Given the description of an element on the screen output the (x, y) to click on. 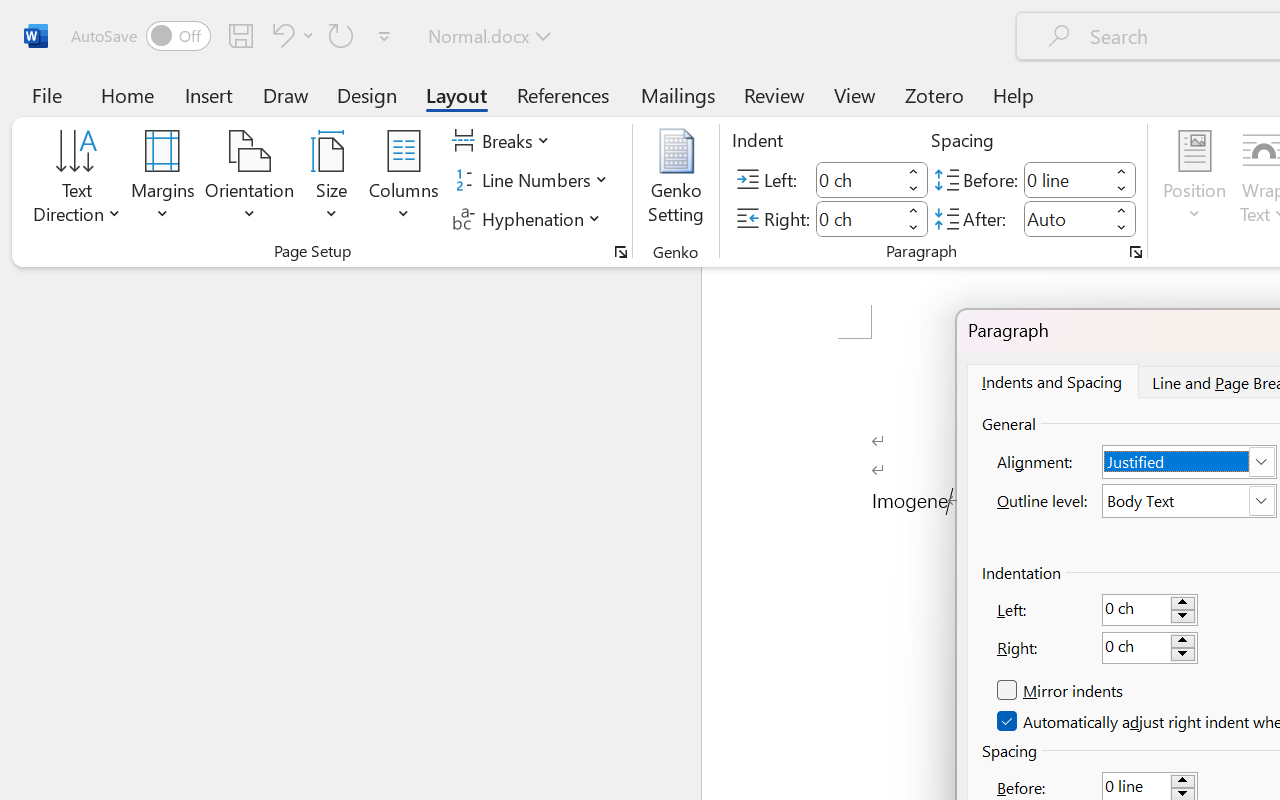
Paragraph... (1135, 252)
Genko Setting... (676, 179)
RichEdit Control (1136, 647)
Columns (404, 179)
Spacing Before (1066, 179)
Mirror indents (1061, 691)
Right: (1150, 648)
Position (1194, 179)
Undo Paragraph Formatting (290, 35)
